Given the description of an element on the screen output the (x, y) to click on. 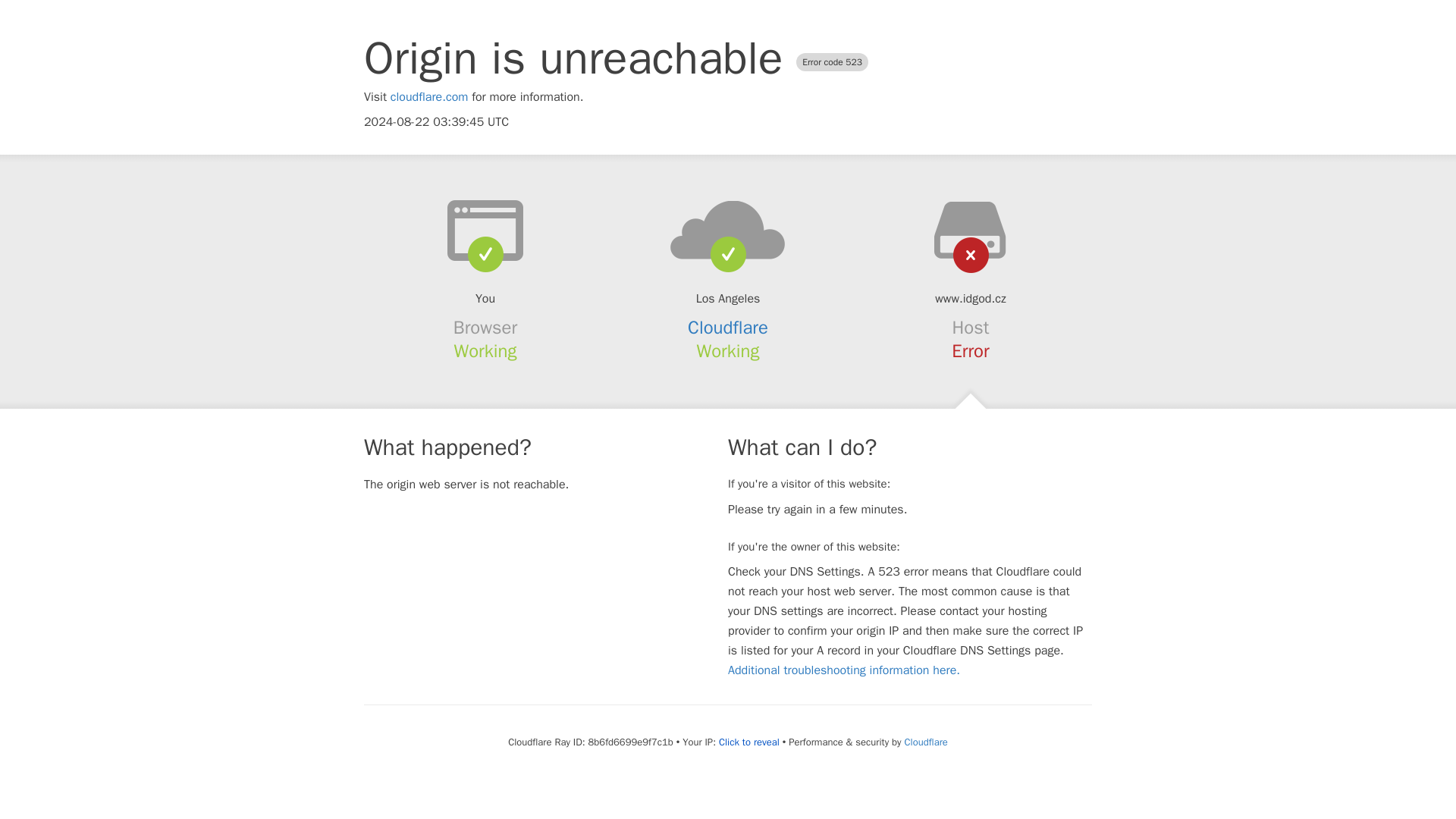
cloudflare.com (429, 96)
Additional troubleshooting information here. (843, 670)
Cloudflare (727, 327)
Click to reveal (748, 742)
Cloudflare (925, 741)
